Given the description of an element on the screen output the (x, y) to click on. 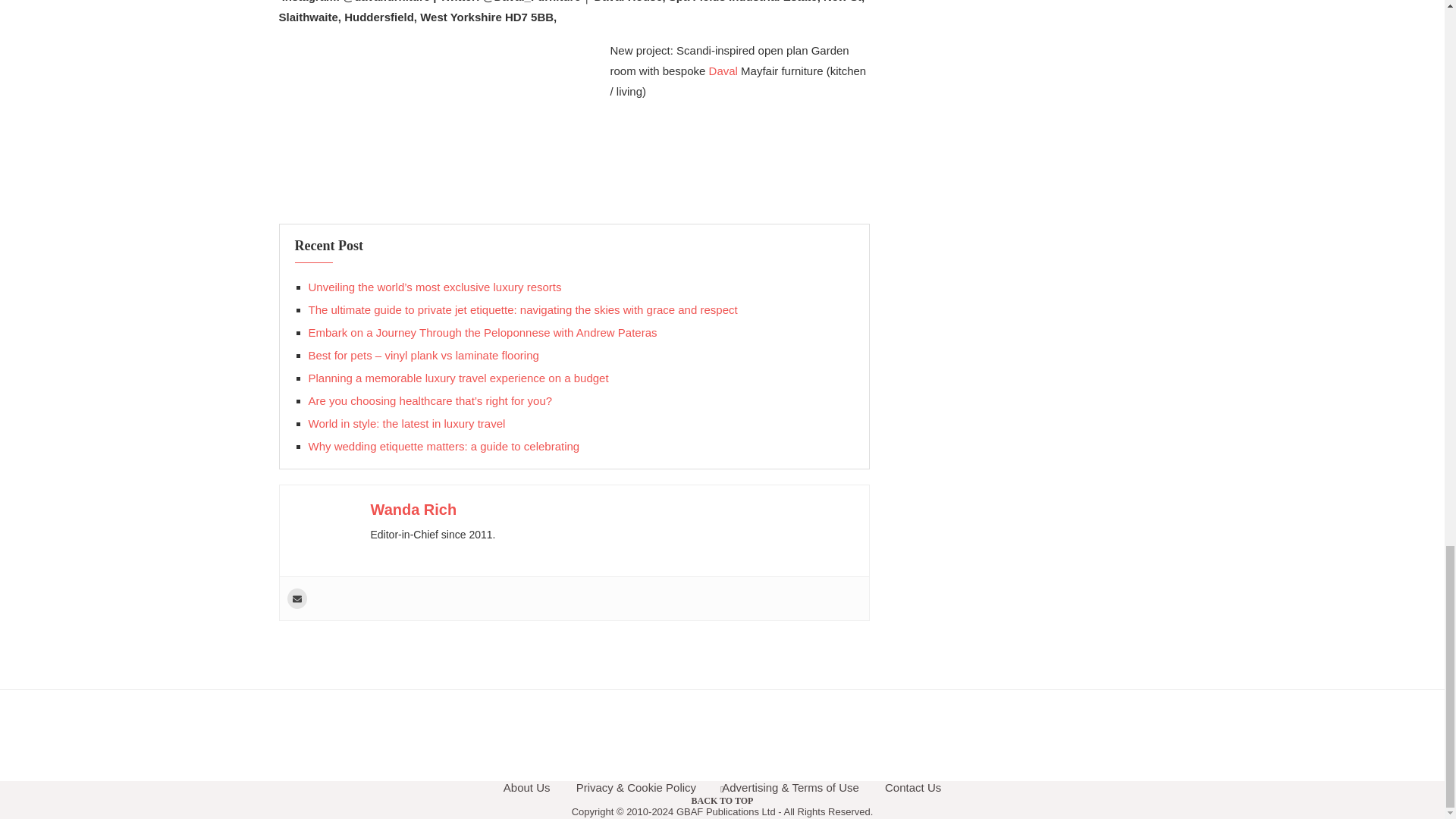
User email (295, 598)
Daval (723, 70)
World in style: the latest in luxury travel (406, 422)
Planning a memorable luxury travel experience on a budget (457, 377)
